Given the description of an element on the screen output the (x, y) to click on. 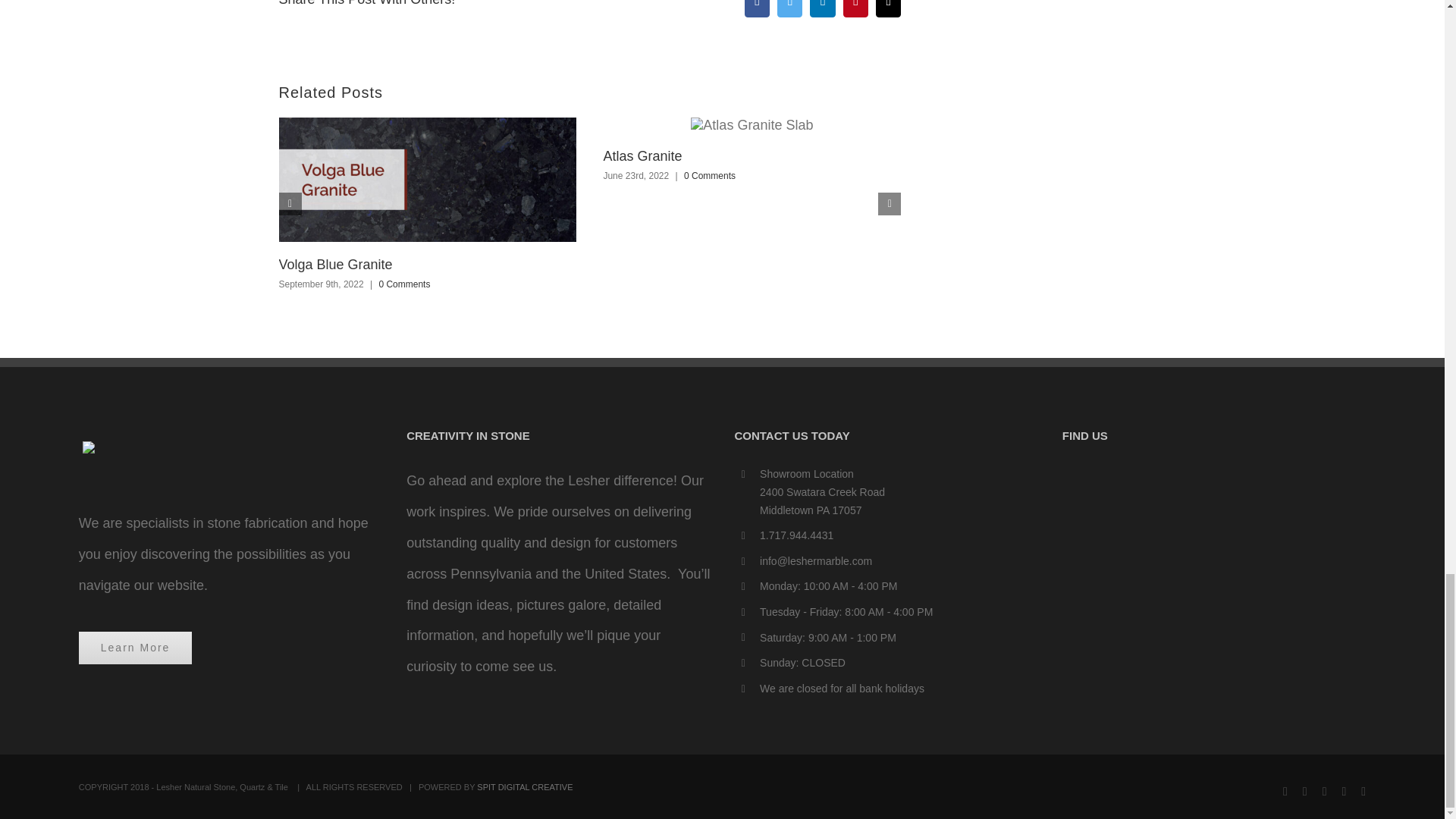
Volga Blue Granite (336, 264)
Facebook (757, 8)
LinkedIn (821, 8)
Pinterest (855, 8)
Email (888, 8)
Atlas Granite (641, 155)
Twitter (789, 8)
